Given the description of an element on the screen output the (x, y) to click on. 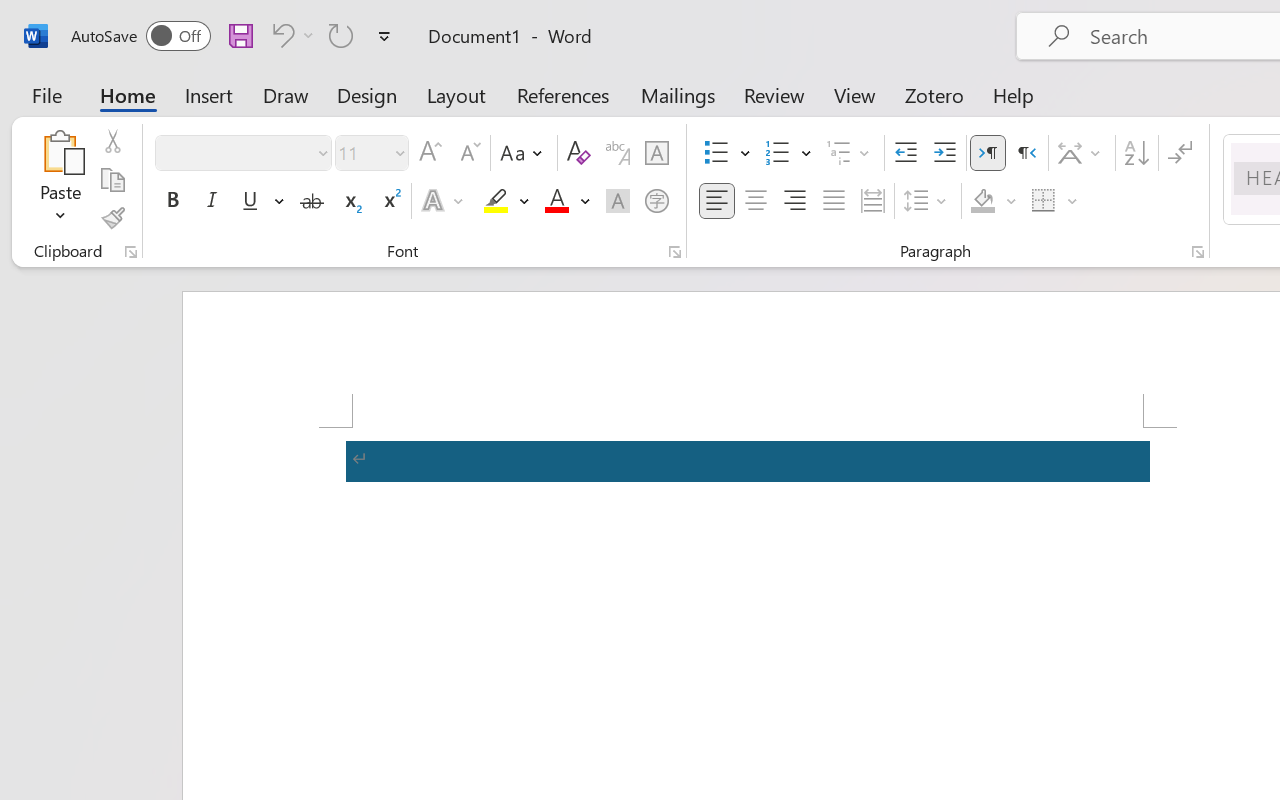
Left-to-Right (988, 153)
Repeat Accessibility Checker (341, 35)
